Given the description of an element on the screen output the (x, y) to click on. 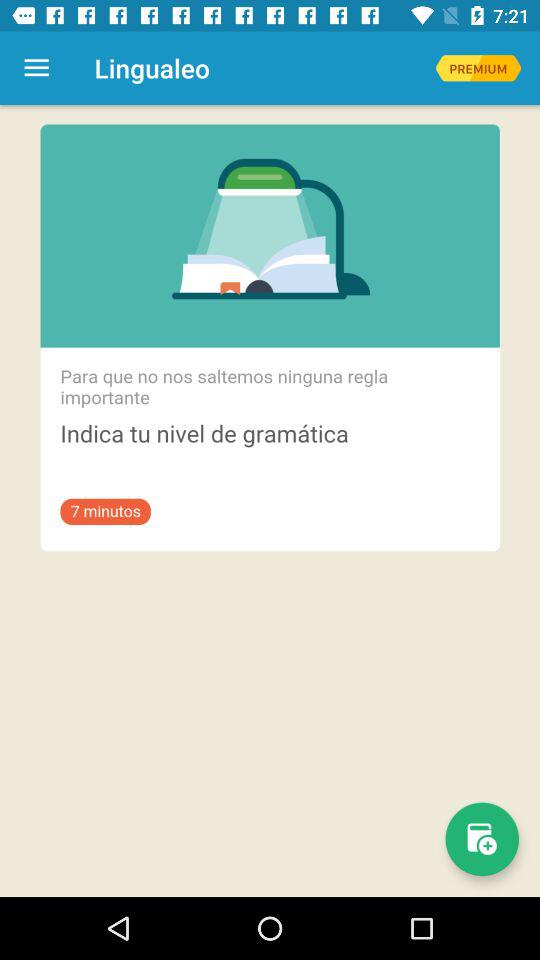
toggle the premium option (478, 68)
